Given the description of an element on the screen output the (x, y) to click on. 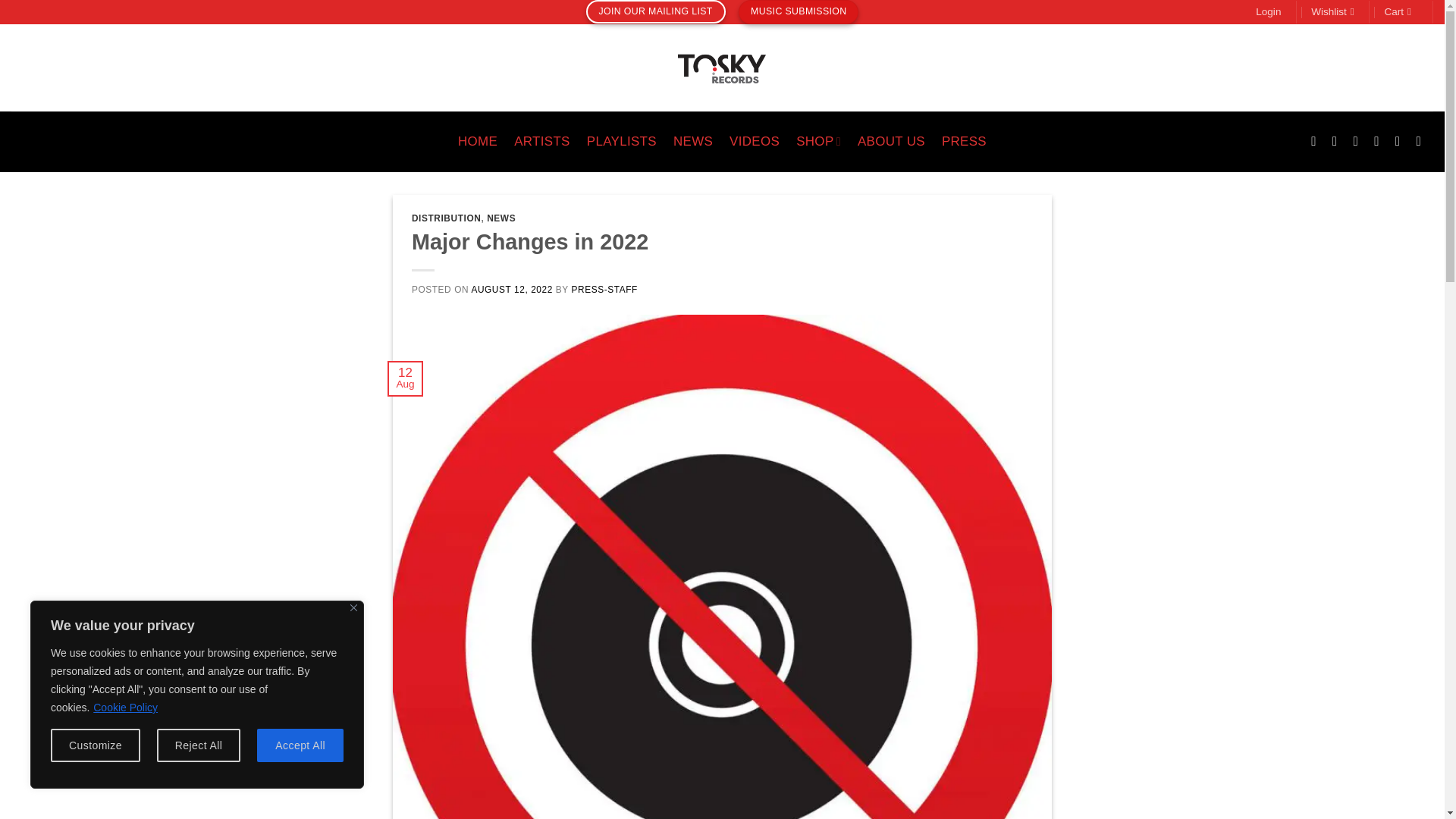
Login (1268, 12)
Accept All (300, 745)
Login (1268, 12)
Cookie Policy (125, 707)
PLAYLISTS (621, 141)
Customize (94, 745)
Reject All (199, 745)
JOIN OUR MAILING LIST (655, 11)
Cart (1400, 12)
Wishlist (1332, 12)
MUSIC SUBMISSION (798, 12)
Wishlist (1332, 12)
Cart (1400, 12)
ARTISTS (541, 141)
